Given the description of an element on the screen output the (x, y) to click on. 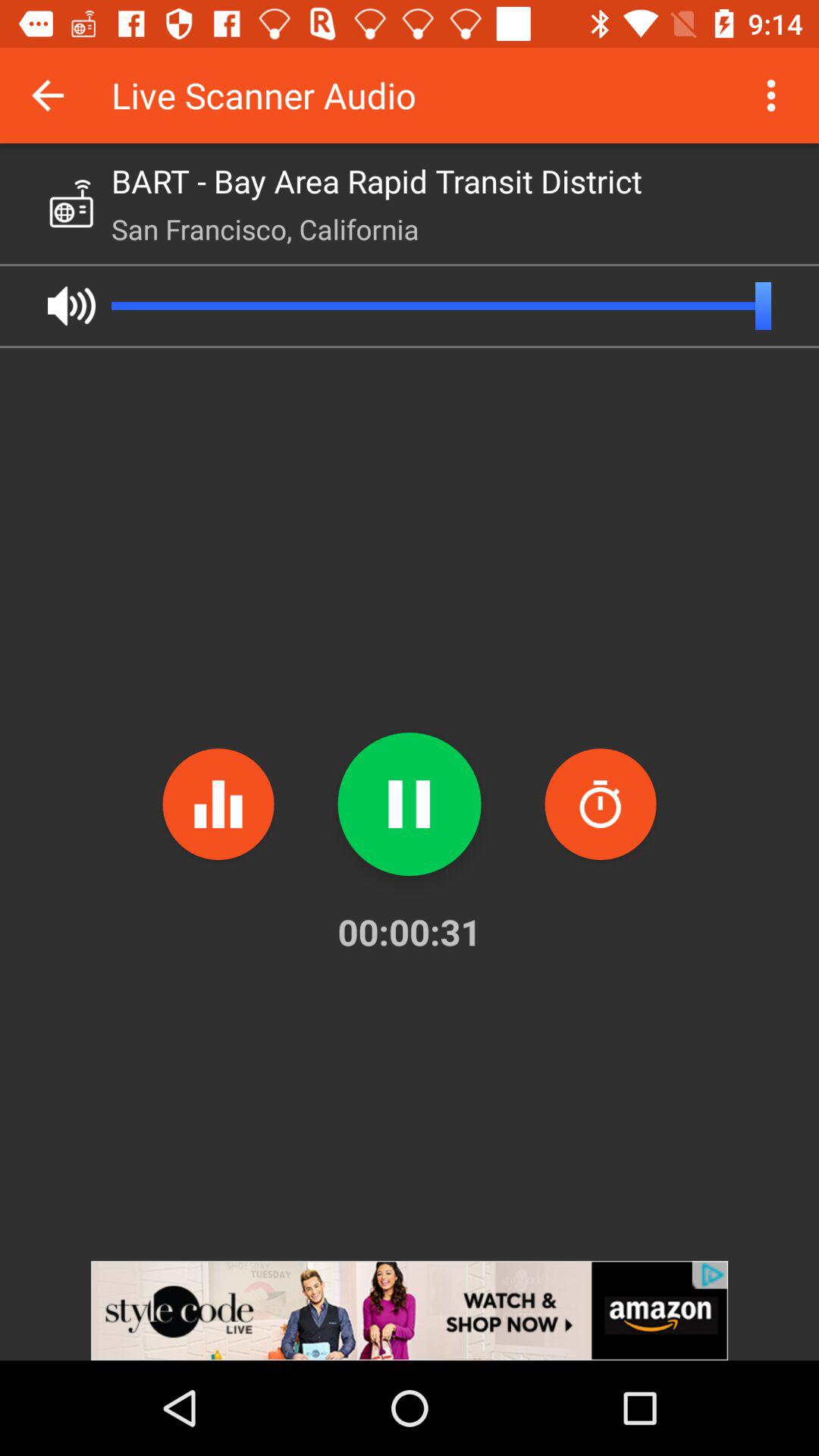
audio (71, 305)
